Given the description of an element on the screen output the (x, y) to click on. 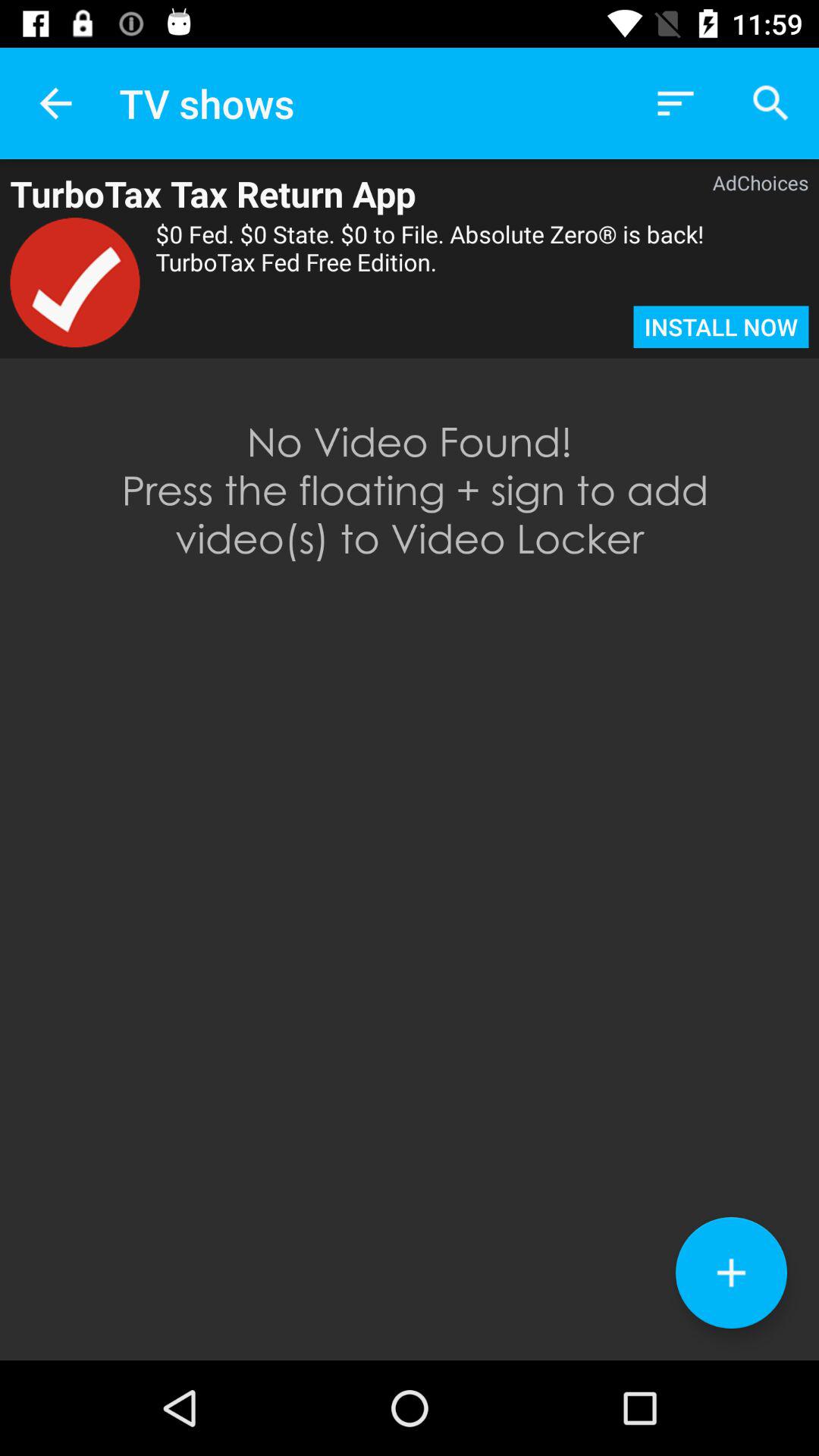
press item below 0 fed 0 (720, 326)
